Given the description of an element on the screen output the (x, y) to click on. 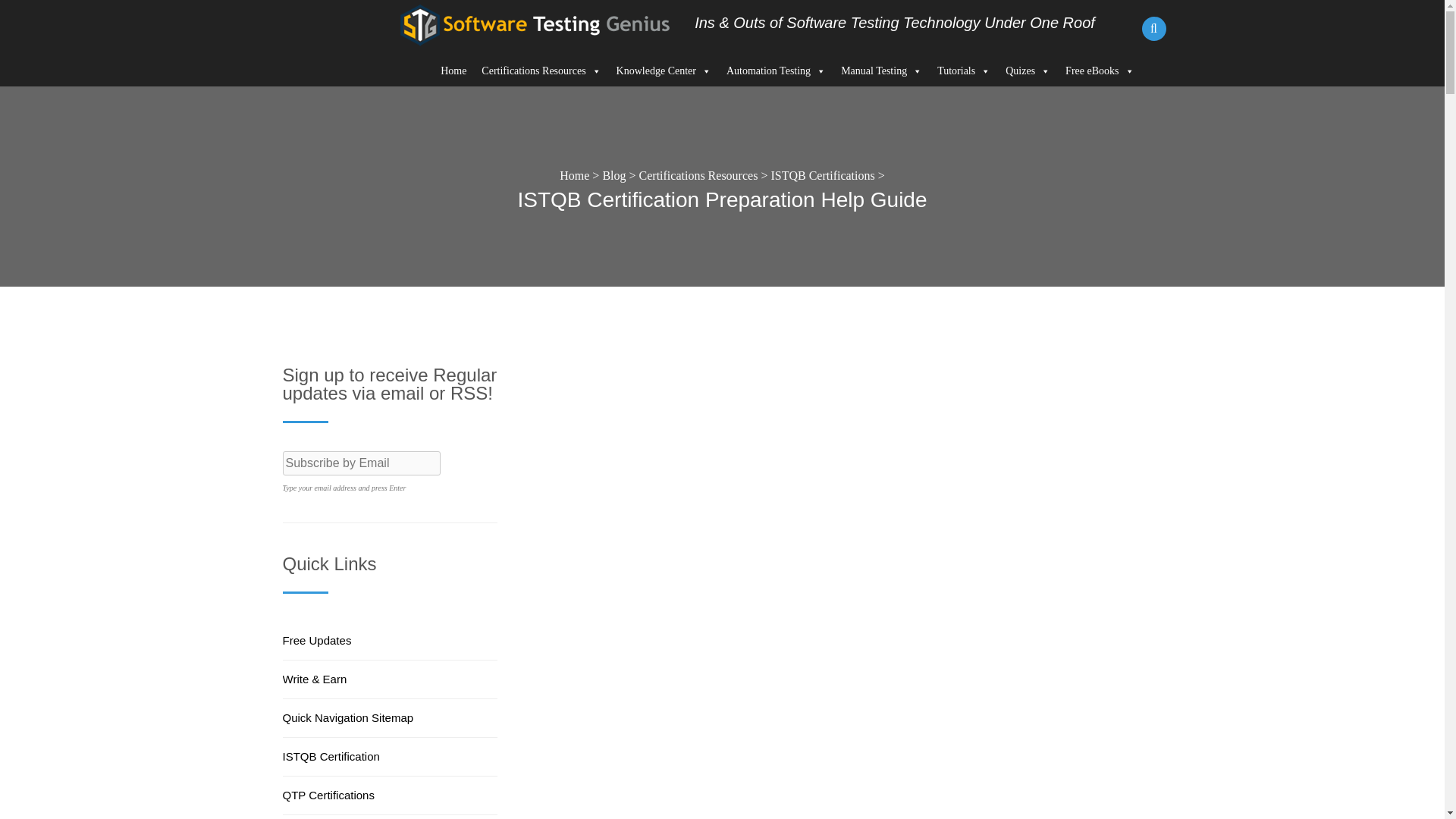
Home (453, 71)
Knowledge Center (663, 71)
Certifications Resources (541, 71)
Go to Software Testing Genius. (574, 174)
Go to the ISTQB Certifications category archives. (822, 174)
Go to the Certifications Resources category archives. (698, 174)
Go to Blog. (614, 174)
